Given the description of an element on the screen output the (x, y) to click on. 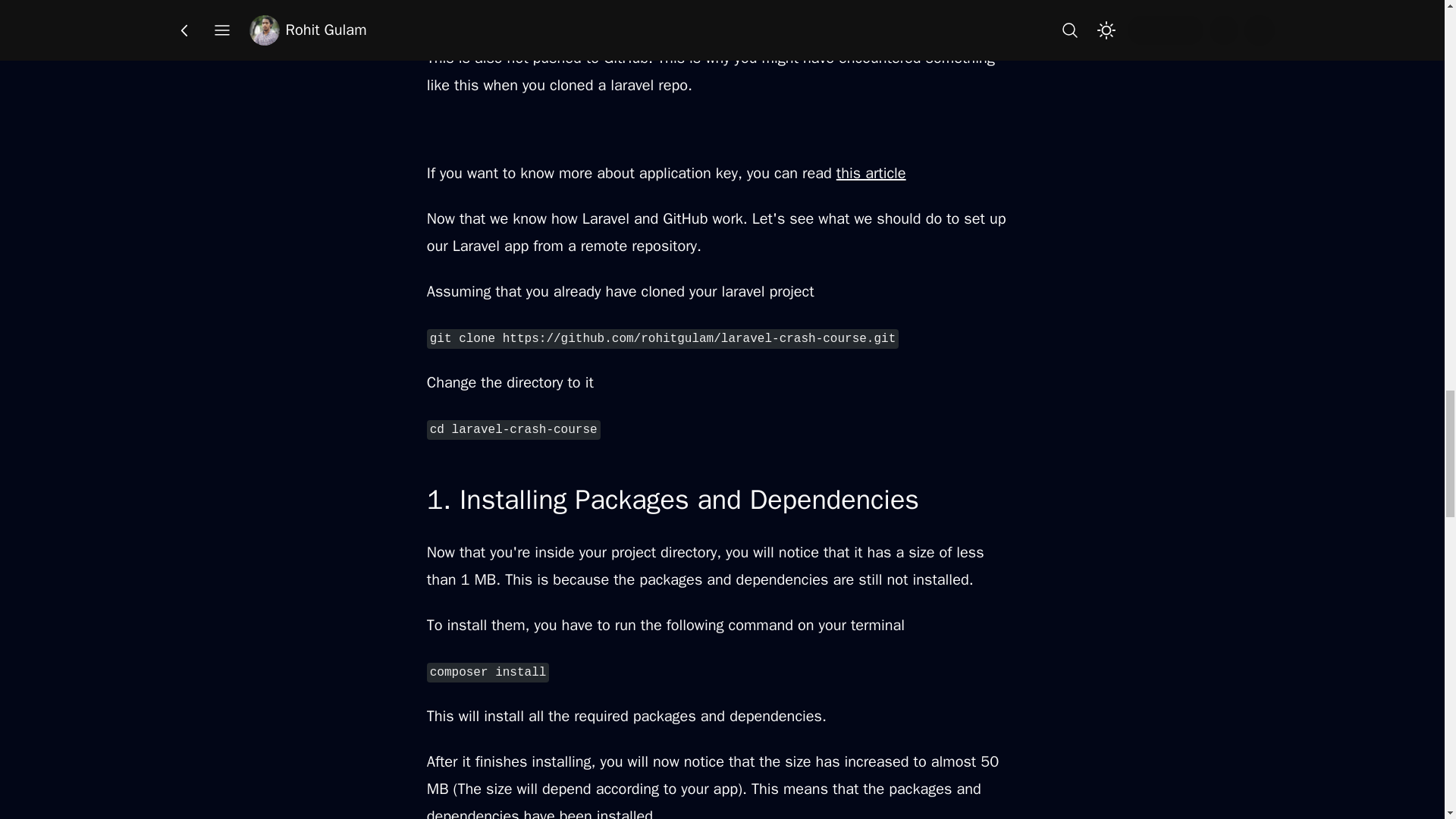
this article (870, 172)
